Given the description of an element on the screen output the (x, y) to click on. 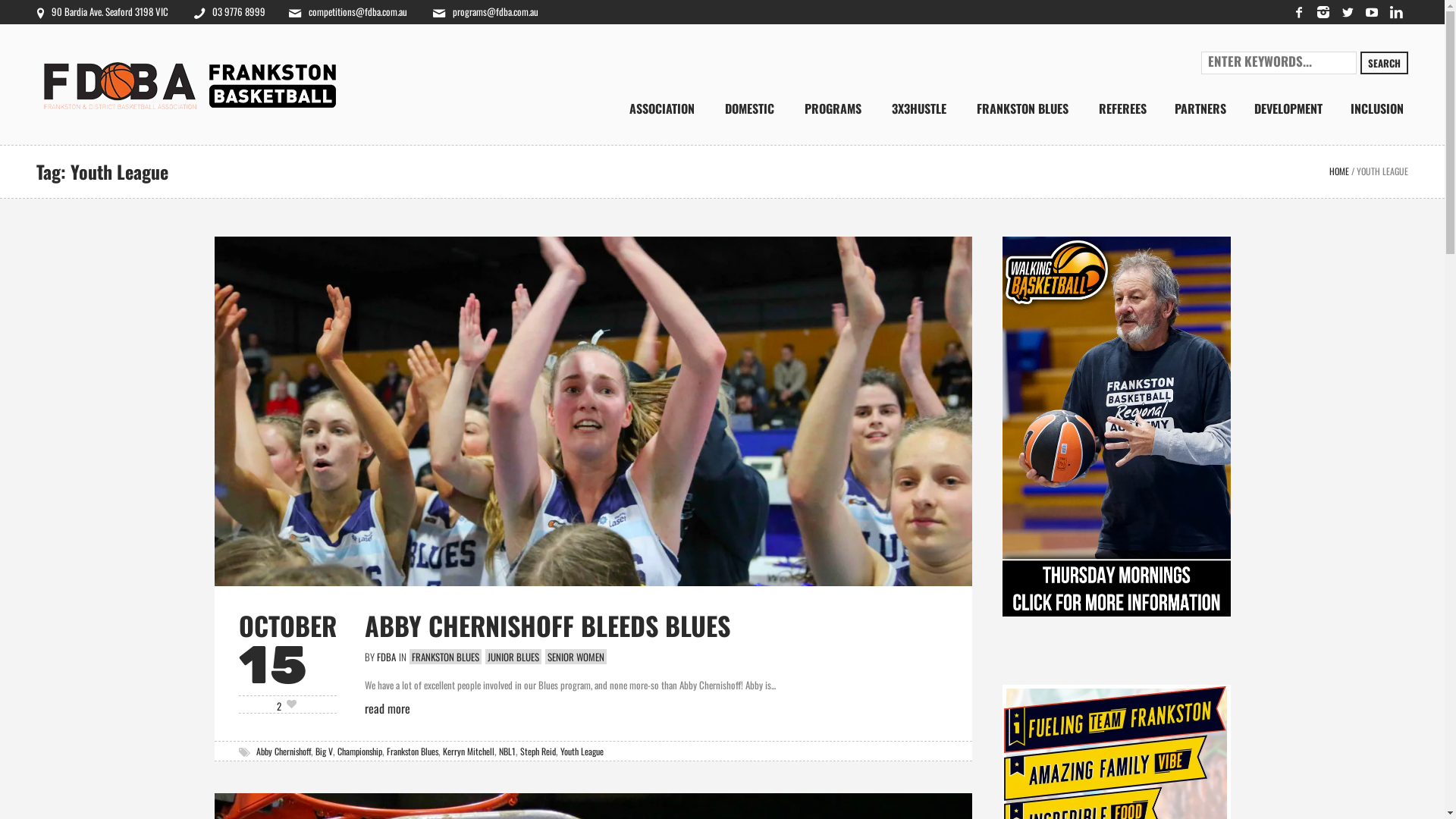
INCLUSION Element type: text (1377, 107)
JUNIOR BLUES Element type: text (513, 656)
FRANKSTON BLUES Element type: text (1022, 107)
Championship Element type: text (358, 750)
2 Element type: text (287, 704)
Big V Element type: text (323, 750)
PARTNERS Element type: text (1200, 107)
Kerryn Mitchell Element type: text (468, 750)
SENIOR WOMEN Element type: text (574, 656)
Abby Chernishoff Element type: text (283, 750)
competitions@fdba.com.au Element type: text (347, 11)
FRANKSTON BLUES Element type: text (445, 656)
HOME Element type: text (1339, 170)
Youth League Element type: text (580, 750)
Steph Reid Element type: text (537, 750)
Twitter Element type: hover (1347, 12)
SEARCH Element type: text (1384, 62)
ABBY CHERNISHOFF BLEEDS BLUES Element type: hover (592, 409)
Youtube Element type: hover (1371, 12)
DOMESTIC Element type: text (749, 107)
read more Element type: text (386, 708)
ABBY CHERNISHOFF BLEEDS BLUES Element type: hover (592, 411)
ABBY CHERNISHOFF BLEEDS BLUES Element type: text (546, 624)
3X3HUSTLE Element type: text (918, 107)
DEVELOPMENT Element type: text (1288, 107)
ASSOCIATION Element type: text (661, 107)
REFEREES Element type: text (1122, 107)
Facebook Element type: hover (1298, 12)
Frankston Blues Element type: text (412, 750)
Instagram Element type: hover (1323, 12)
FDBA Element type: text (385, 656)
programs@fdba.com.au Element type: text (485, 11)
LinkedIn Element type: hover (1395, 12)
PROGRAMS Element type: text (833, 107)
NBL1 Element type: text (506, 750)
